Given the description of an element on the screen output the (x, y) to click on. 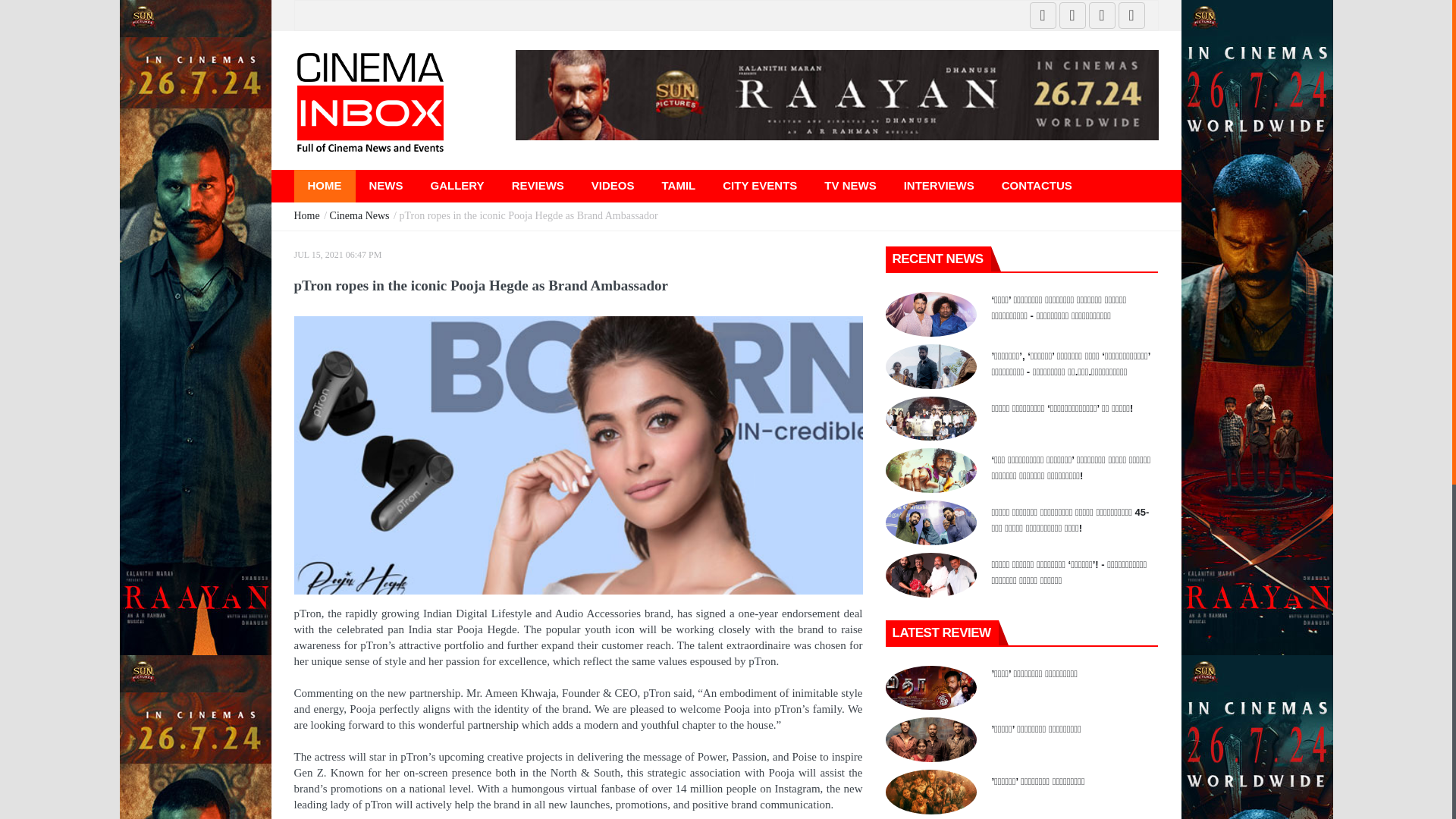
REVIEWS (537, 184)
Cinema News (360, 215)
TAMIL (678, 184)
TV NEWS (849, 184)
VIDEOS (612, 184)
CITY EVENTS (759, 184)
Home (307, 215)
HOME (324, 185)
GALLERY (456, 184)
NEWS (385, 184)
